Given the description of an element on the screen output the (x, y) to click on. 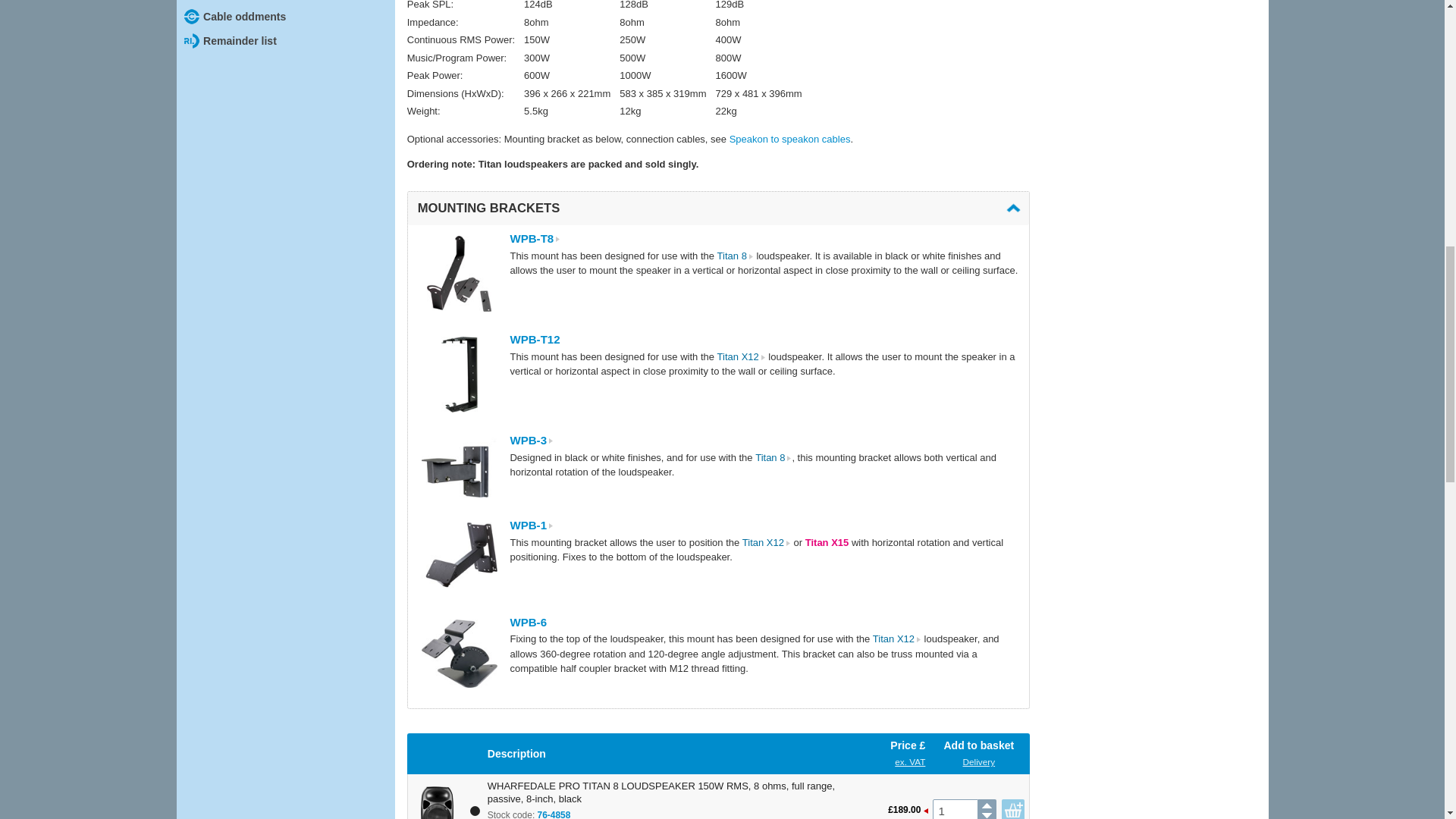
1 (954, 809)
